Given the description of an element on the screen output the (x, y) to click on. 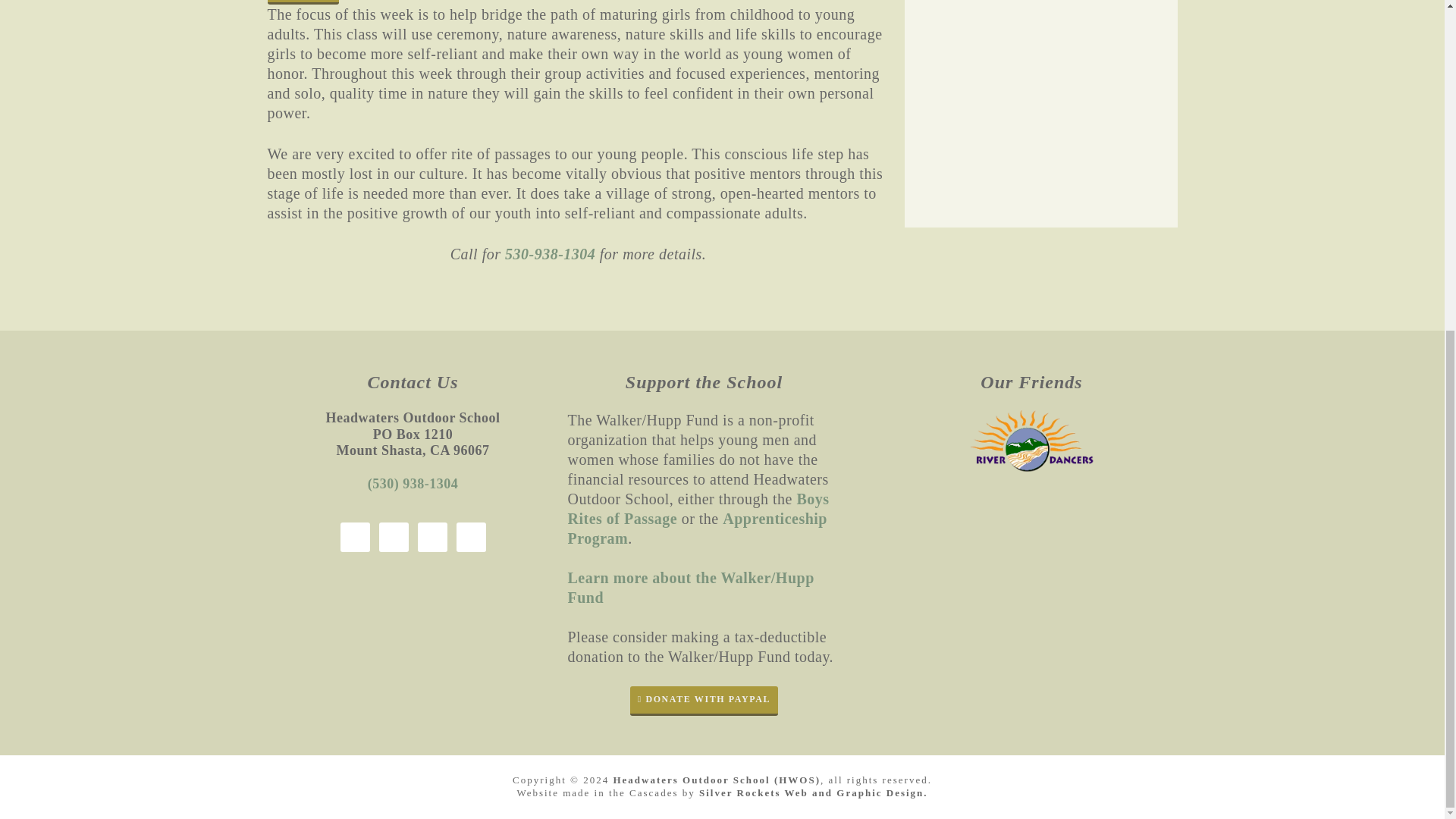
530-938-1304 (550, 253)
REGISTER (302, 2)
